Given the description of an element on the screen output the (x, y) to click on. 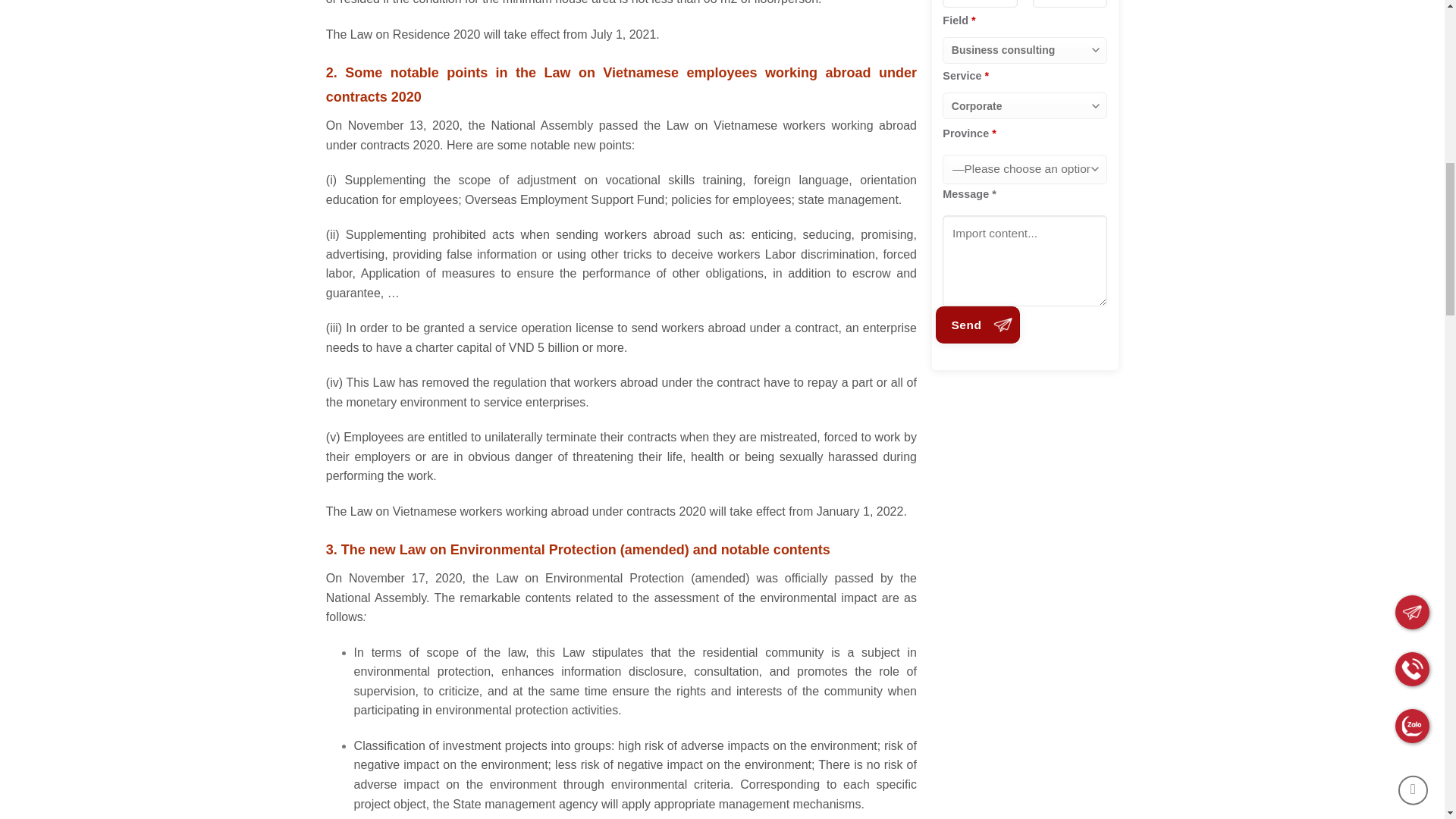
Send (978, 324)
